Given the description of an element on the screen output the (x, y) to click on. 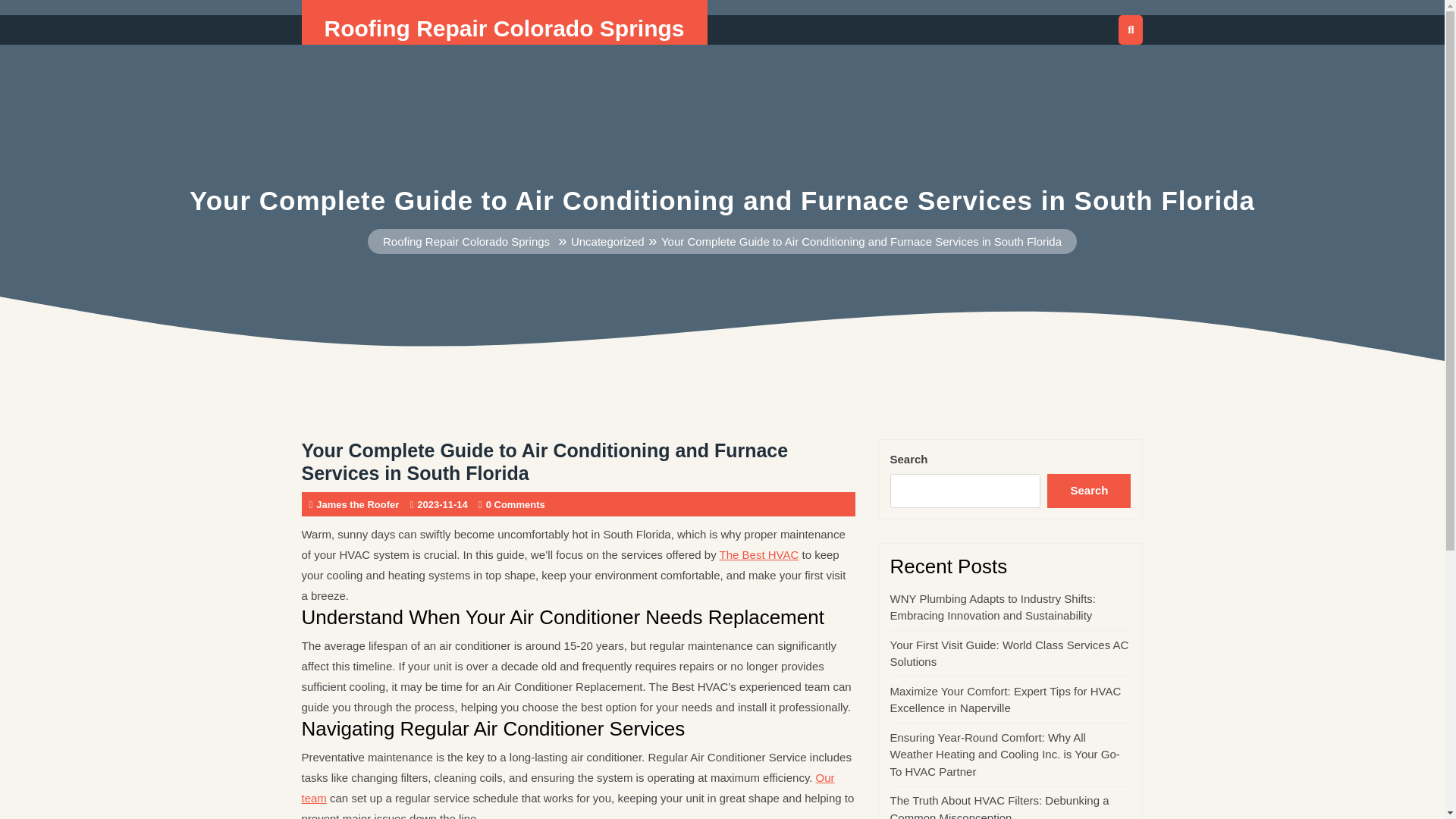
Your First Visit Guide: World Class Services AC Solutions (1009, 653)
Search (1088, 491)
Roofing Repair Colorado Springs (504, 27)
The Best HVAC (759, 554)
Our team (567, 787)
Uncategorized (607, 241)
Roofing Repair Colorado Springs (466, 241)
